Given the description of an element on the screen output the (x, y) to click on. 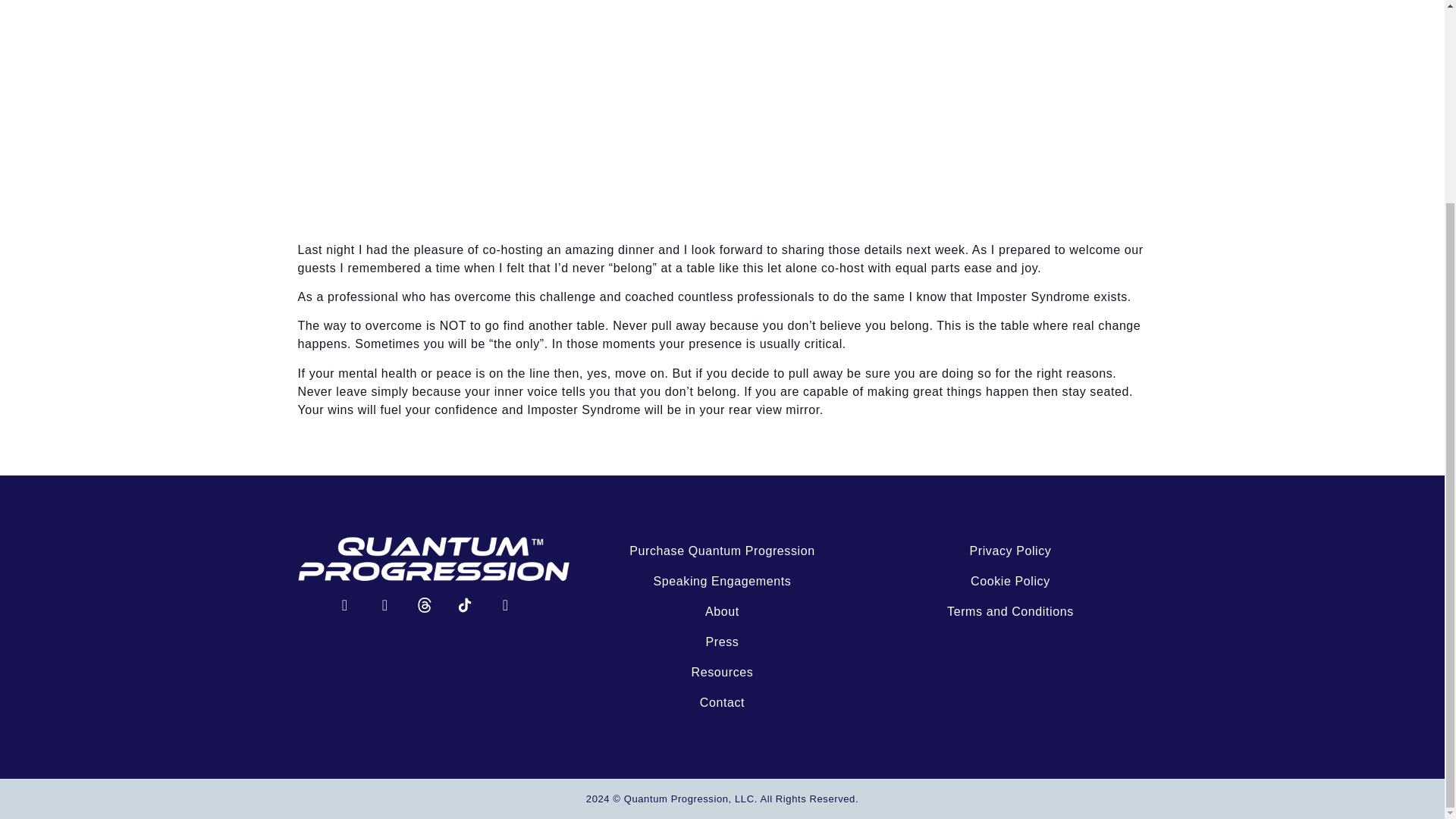
Speaking Engagements (722, 581)
About (722, 612)
Privacy Policy (1010, 551)
Resources (722, 672)
Contact (722, 702)
Cookie Policy (1010, 581)
Press (722, 642)
Purchase Quantum Progression (722, 551)
Terms and Conditions (1010, 612)
